Given the description of an element on the screen output the (x, y) to click on. 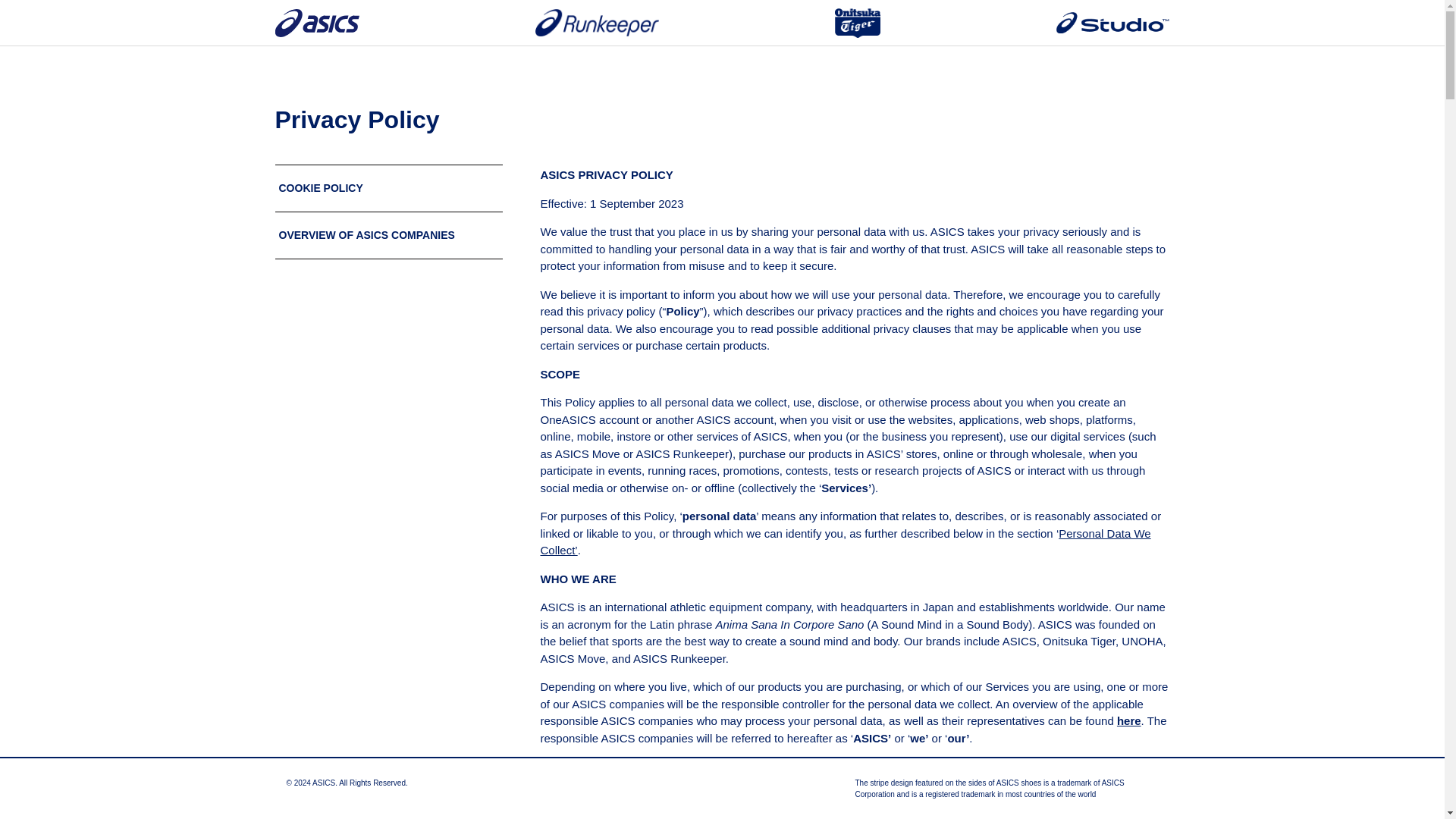
OVERVIEW OF ASICS COMPANIES (366, 234)
COOKIE POLICY (320, 187)
here (1128, 720)
